Given the description of an element on the screen output the (x, y) to click on. 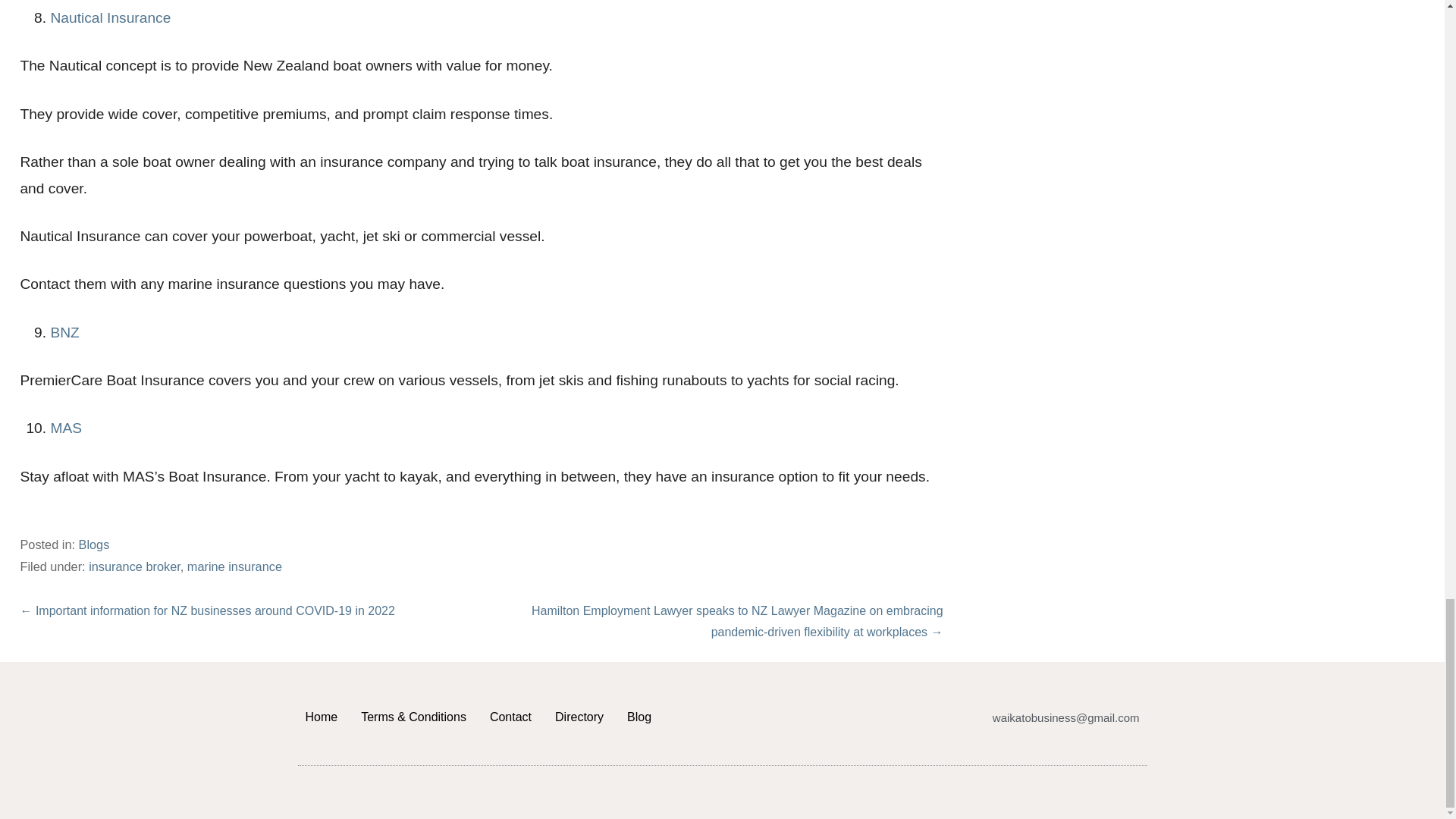
marine insurance (234, 566)
insurance broker (134, 566)
MAS (65, 427)
Blogs (94, 544)
BNZ (63, 332)
Nautical Insurance (109, 17)
